Given the description of an element on the screen output the (x, y) to click on. 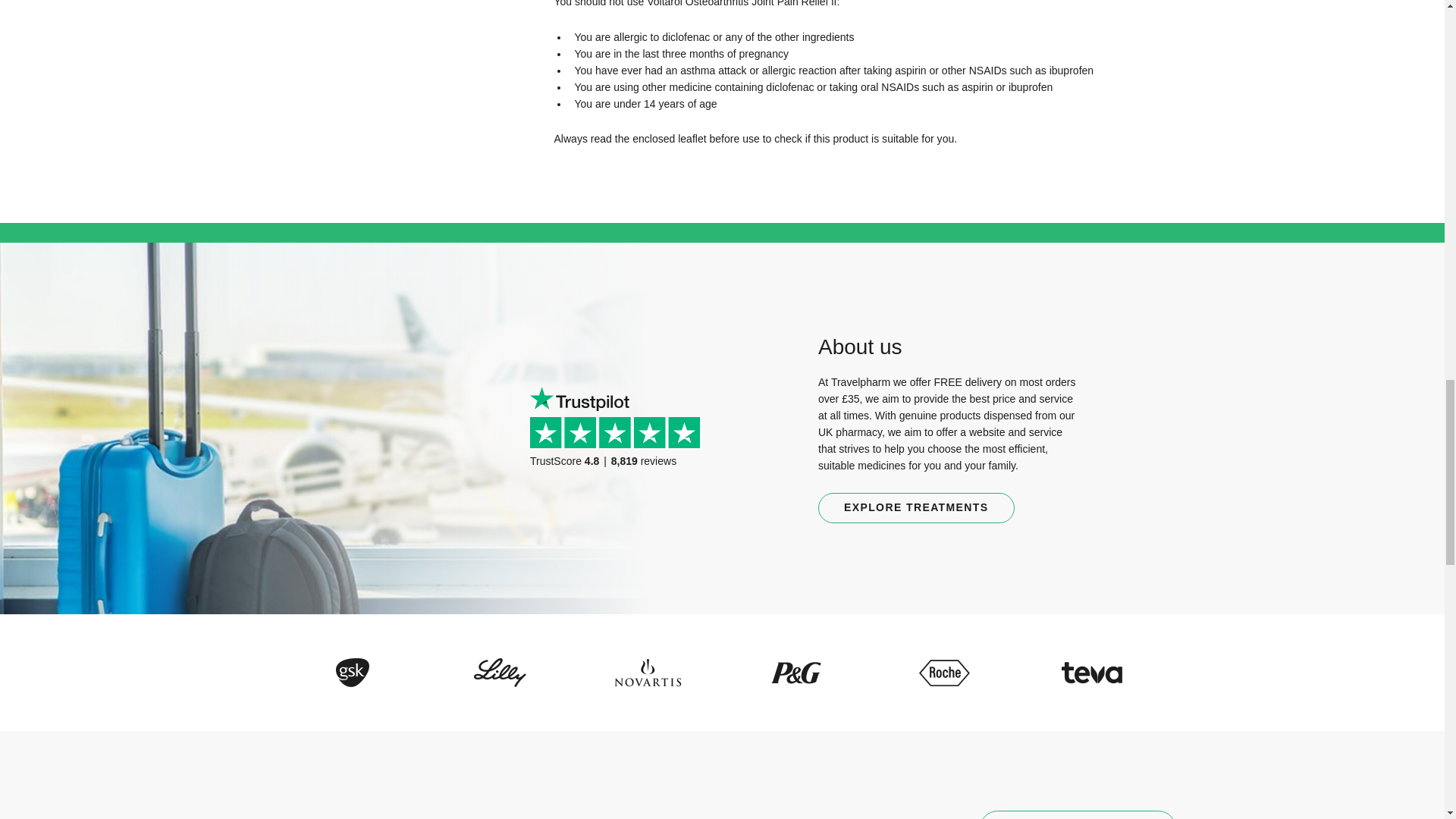
Customer reviews powered by Trustpilot (620, 451)
